Given the description of an element on the screen output the (x, y) to click on. 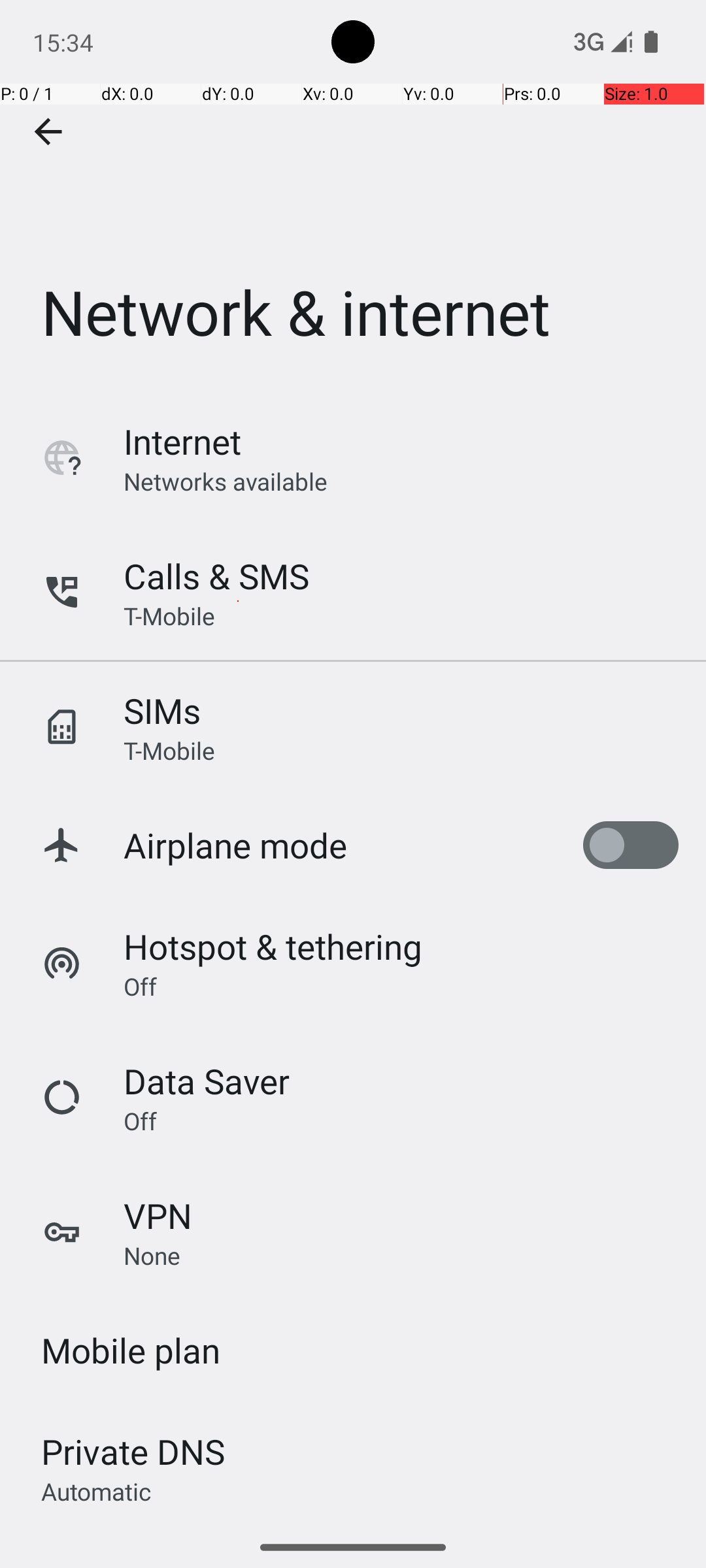
Internet Element type: android.widget.TextView (182, 441)
Networks available Element type: android.widget.TextView (225, 480)
Calls & SMS Element type: android.widget.TextView (216, 575)
T-Mobile Element type: android.widget.TextView (169, 615)
SIMs Element type: android.widget.TextView (161, 710)
Airplane mode Element type: android.widget.TextView (235, 844)
Hotspot & tethering Element type: android.widget.TextView (272, 946)
Data Saver Element type: android.widget.TextView (206, 1080)
VPN Element type: android.widget.TextView (157, 1215)
Mobile plan Element type: android.widget.TextView (130, 1349)
Private DNS Element type: android.widget.TextView (132, 1451)
Automatic Element type: android.widget.TextView (96, 1490)
